Given the description of an element on the screen output the (x, y) to click on. 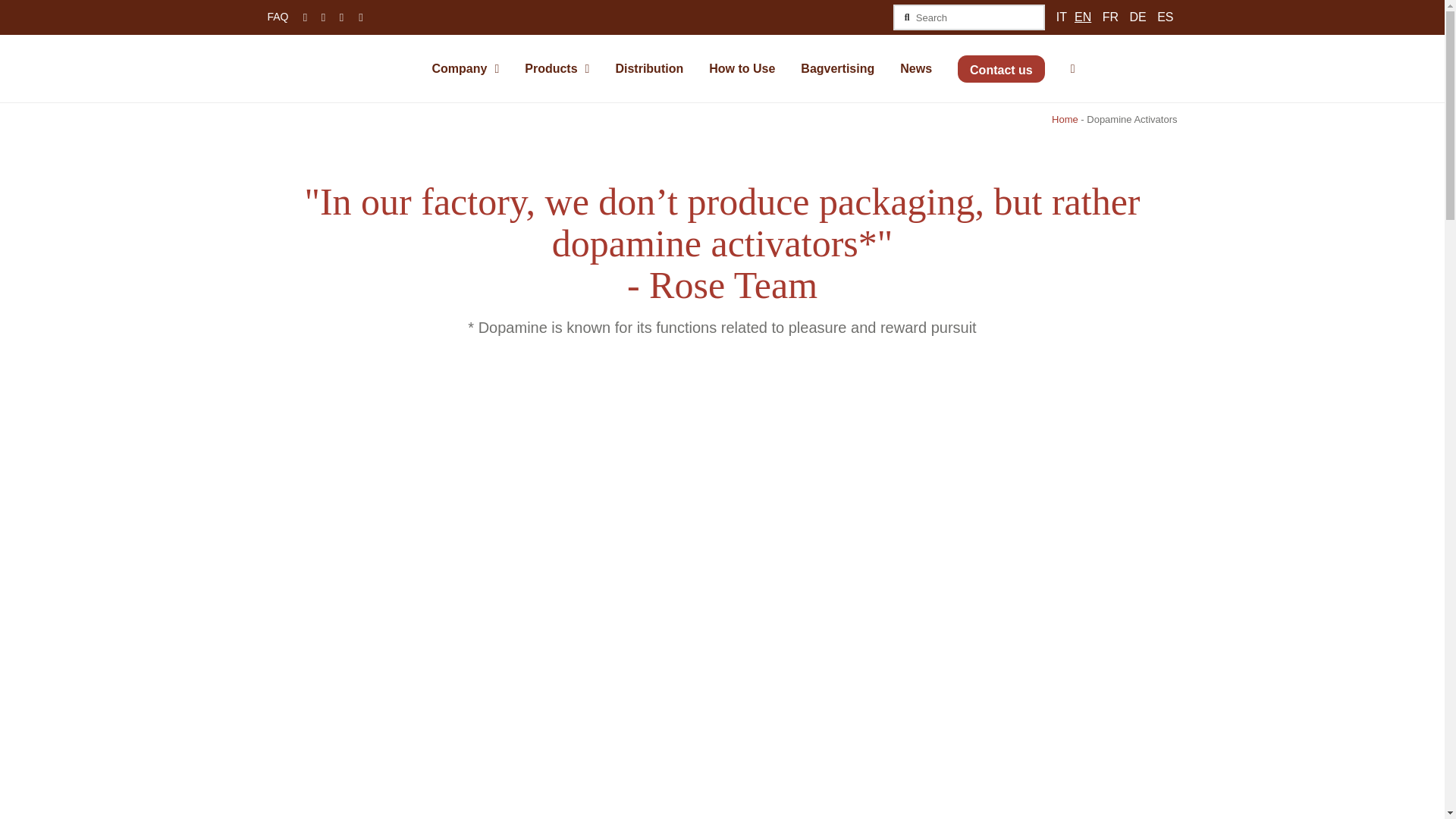
Distribution (648, 68)
Products (557, 68)
DE (1137, 16)
FR (1110, 16)
Contact us (1001, 68)
Company (465, 68)
FAQ (277, 16)
EN (1082, 16)
ESSEOQUATTRO CHEMISTRY EN (721, 411)
ES (1165, 16)
